Given the description of an element on the screen output the (x, y) to click on. 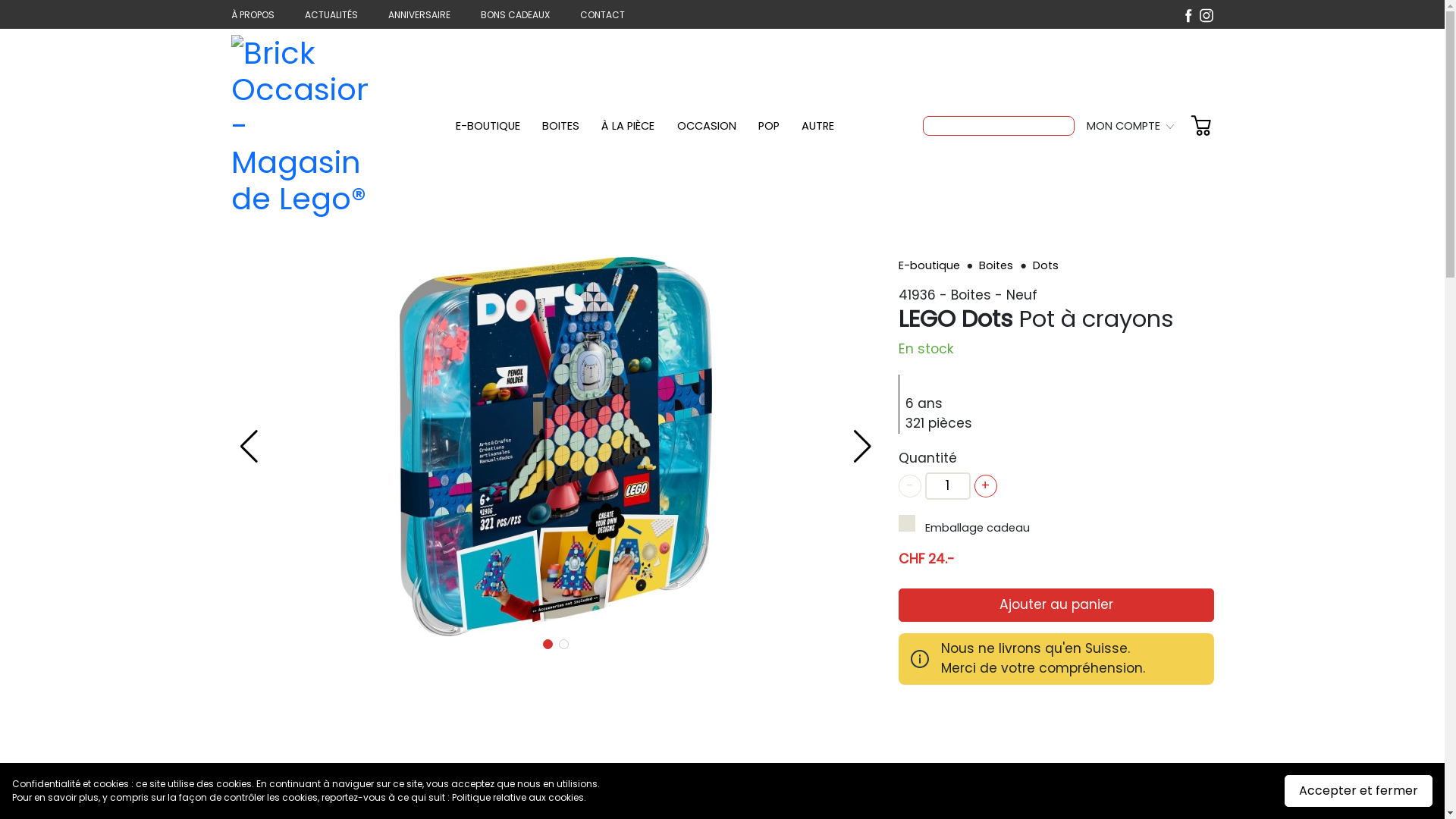
AUTRE Element type: text (817, 125)
- Element type: text (908, 485)
Politique relative aux cookies Element type: text (517, 796)
Accepter et fermer Element type: text (1358, 790)
Boites Element type: text (997, 265)
CONTACT Element type: text (601, 14)
POP Element type: text (768, 125)
+ Element type: text (984, 485)
Ajouter au panier Element type: text (1055, 604)
OCCASION Element type: text (706, 125)
E-BOUTIQUE Element type: text (487, 125)
ANNIVERSAIRE Element type: text (419, 14)
BOITES Element type: text (560, 125)
E-boutique Element type: text (929, 265)
Dots Element type: text (1045, 265)
BONS CADEAUX Element type: text (514, 14)
